Given the description of an element on the screen output the (x, y) to click on. 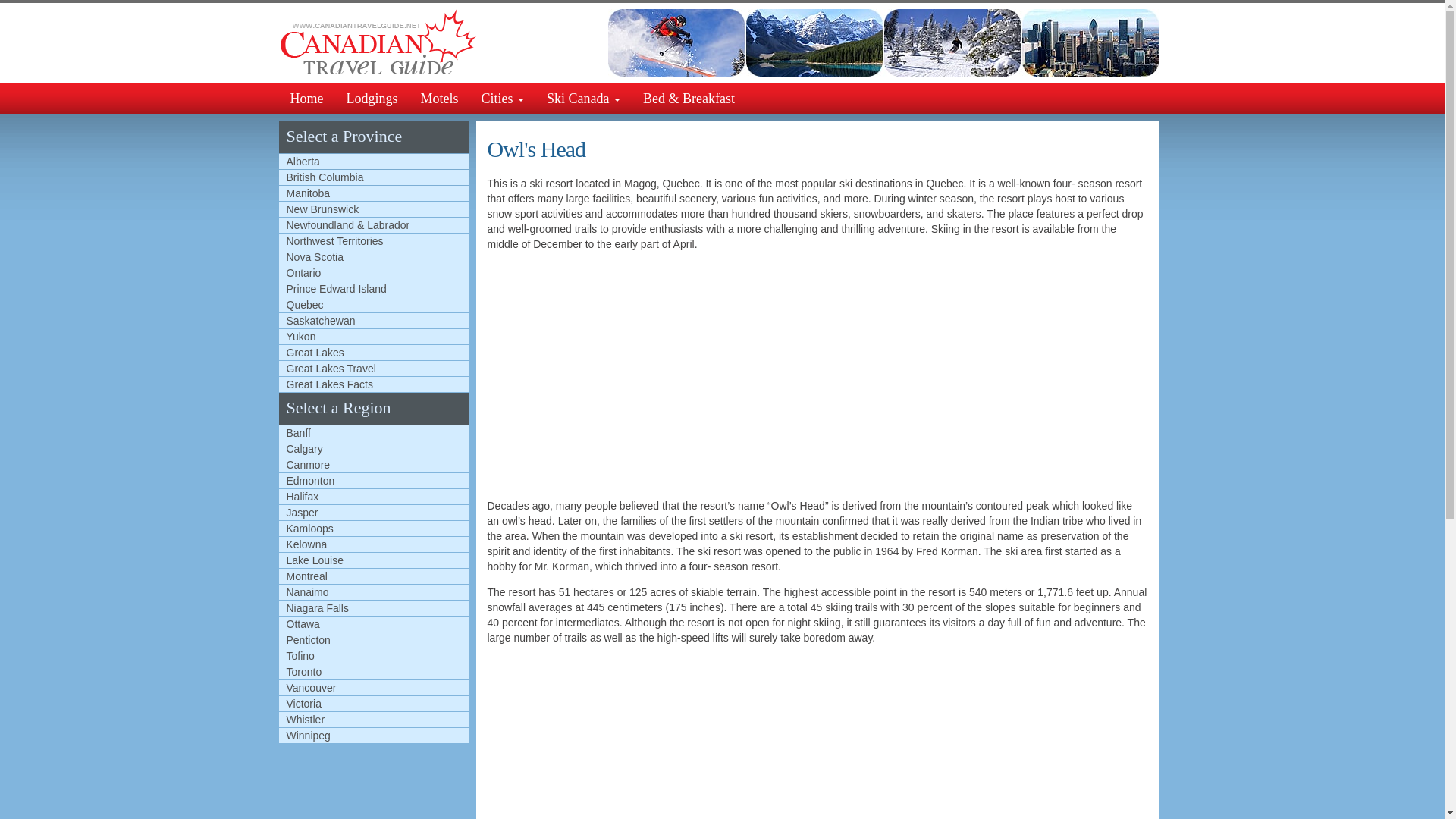
Advertisement (789, 374)
Advertisement (789, 740)
Motels (439, 98)
Home (306, 98)
Cities (502, 98)
Lodgings (371, 98)
